Given the description of an element on the screen output the (x, y) to click on. 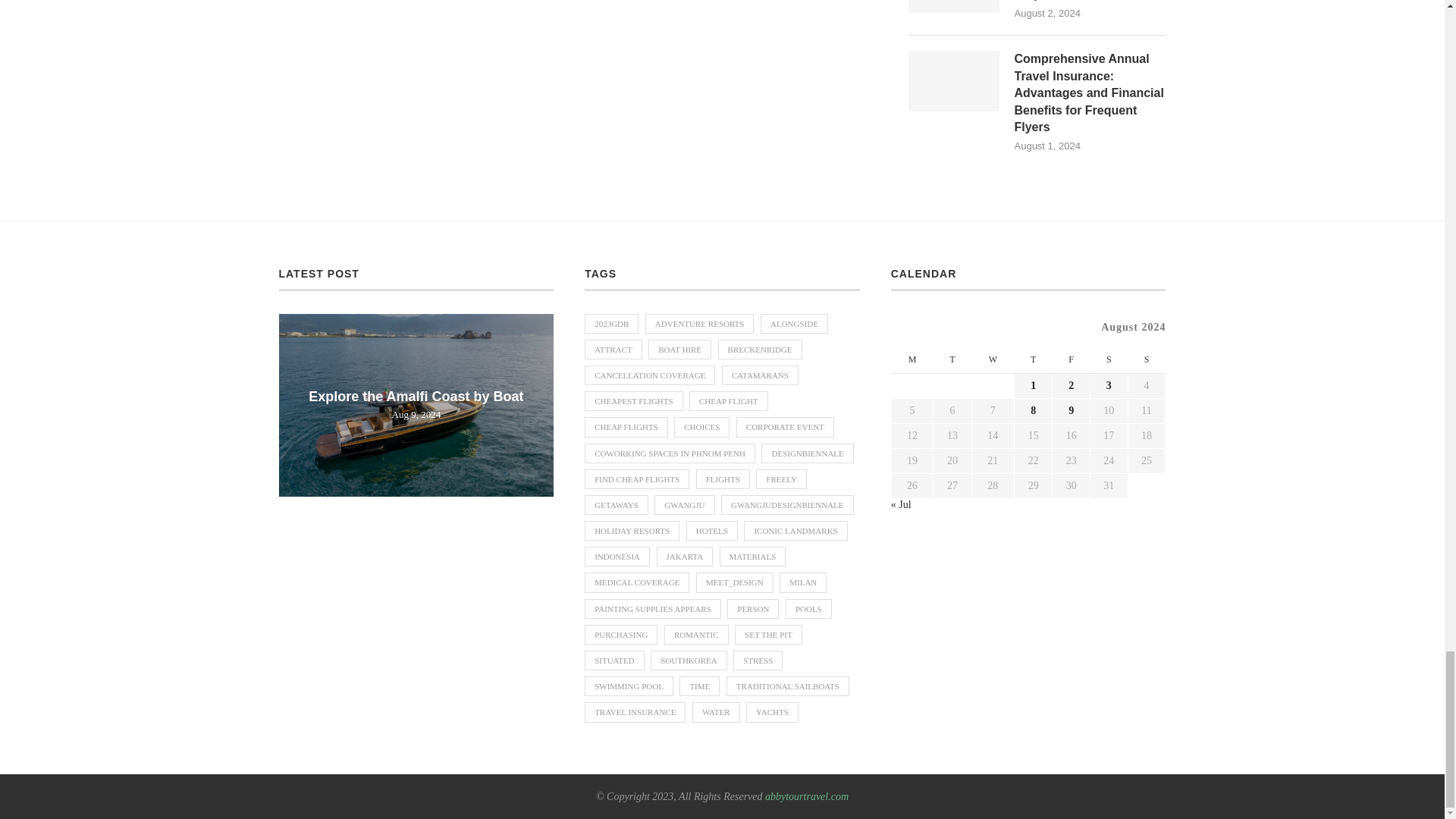
First-Time Skiers: What to Expect and How to Prepare (1090, 1)
First-Time Skiers: What to Expect and How to Prepare (953, 6)
